Given the description of an element on the screen output the (x, y) to click on. 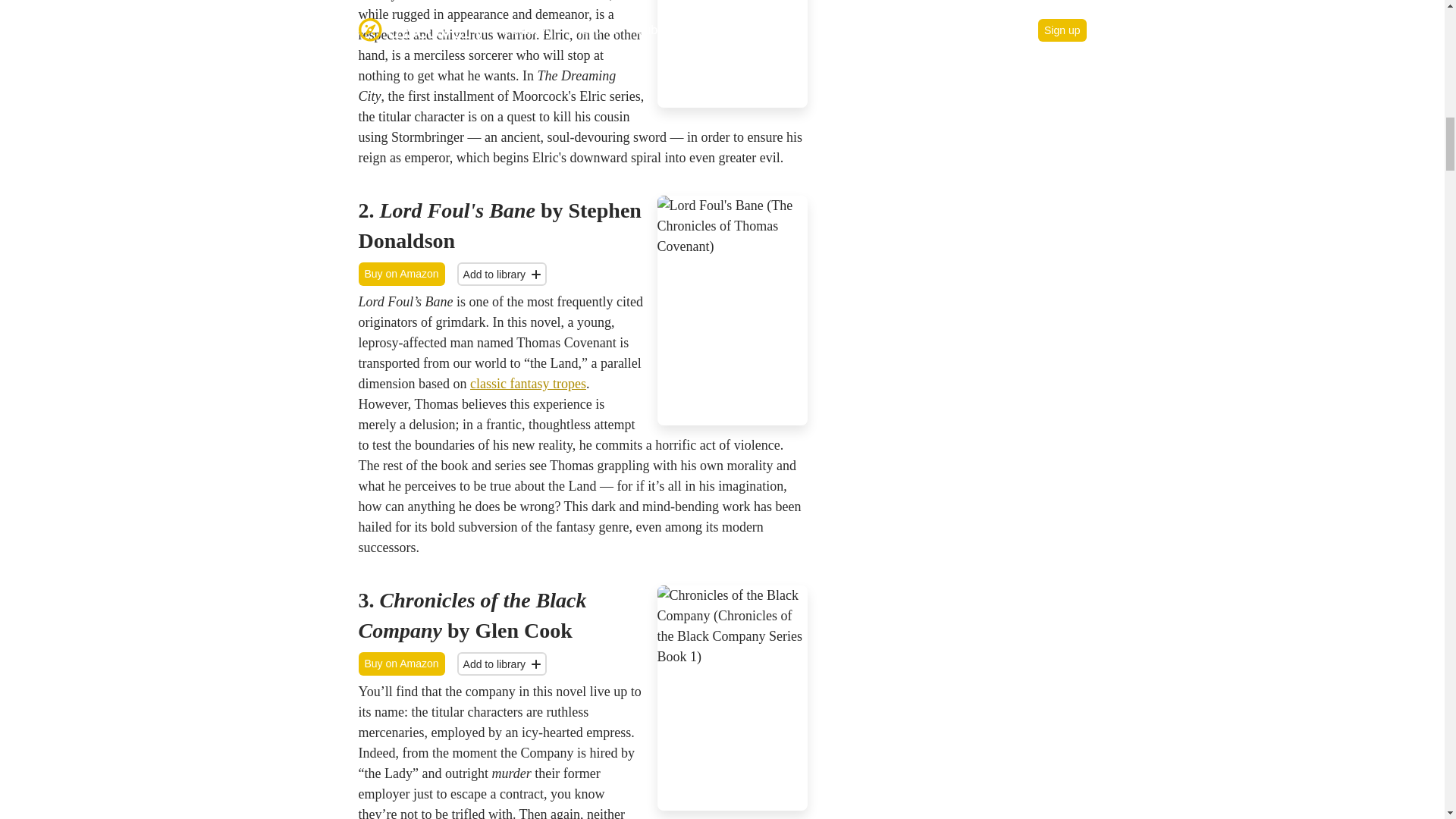
classic fantasy tropes (528, 383)
Buy on Amazon (401, 663)
Buy on Amazon (401, 273)
Add to library (502, 663)
Add to library (502, 273)
